Given the description of an element on the screen output the (x, y) to click on. 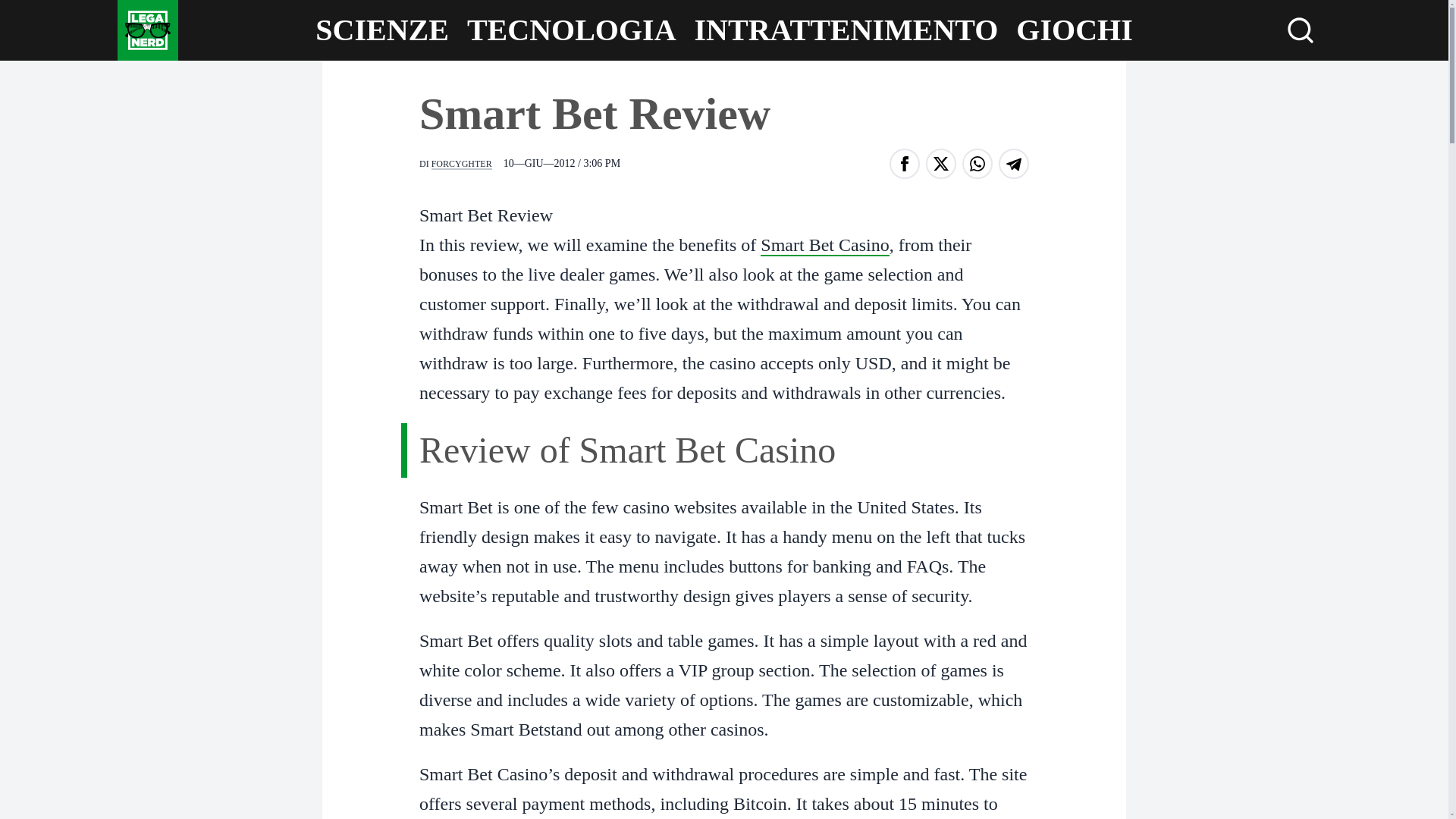
SCIENZE (381, 30)
INTRATTENIMENTO (846, 30)
Smart Bet Casino (824, 245)
GIOCHI (1074, 30)
TECNOLOGIA (572, 30)
FORCYGHTER (461, 163)
